Given the description of an element on the screen output the (x, y) to click on. 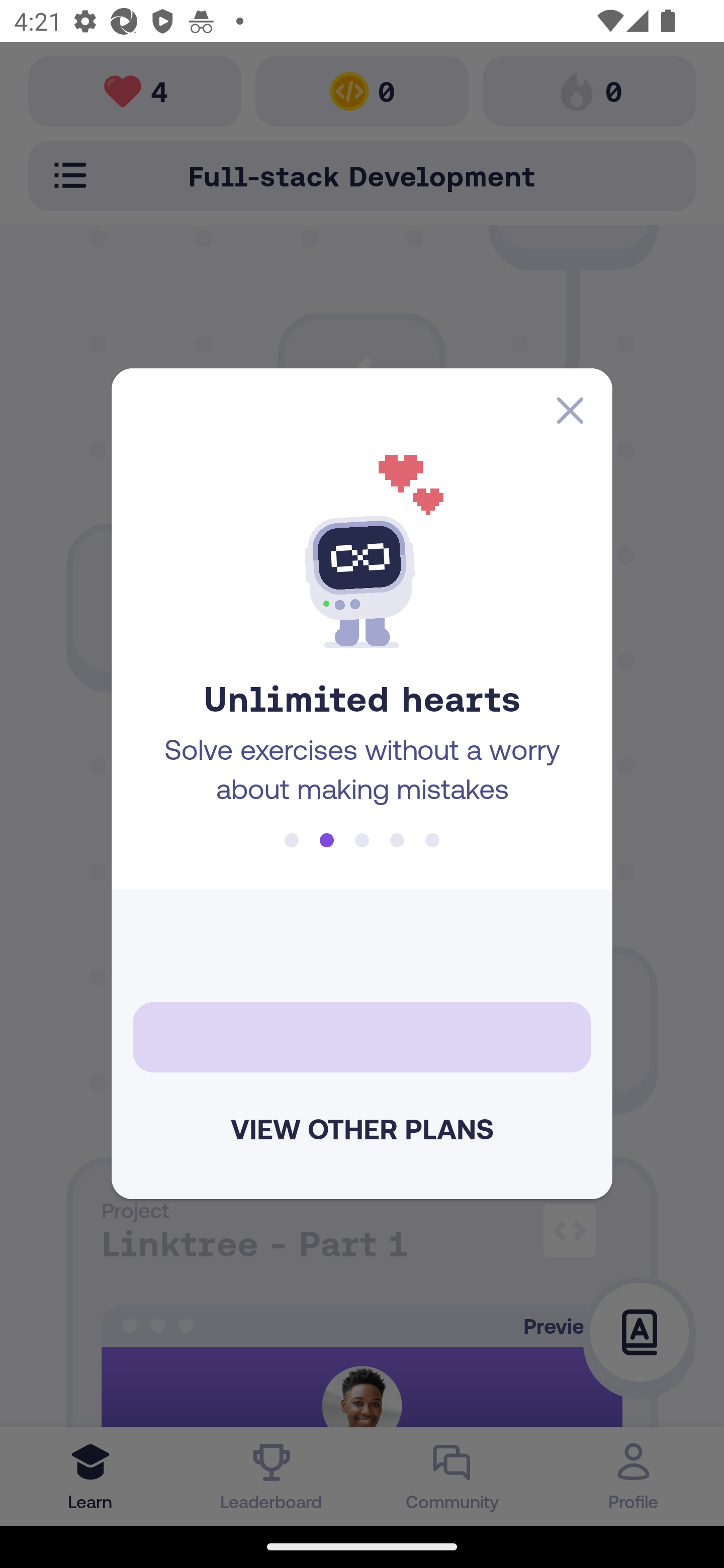
VIEW OTHER PLANS (362, 1128)
